Given the description of an element on the screen output the (x, y) to click on. 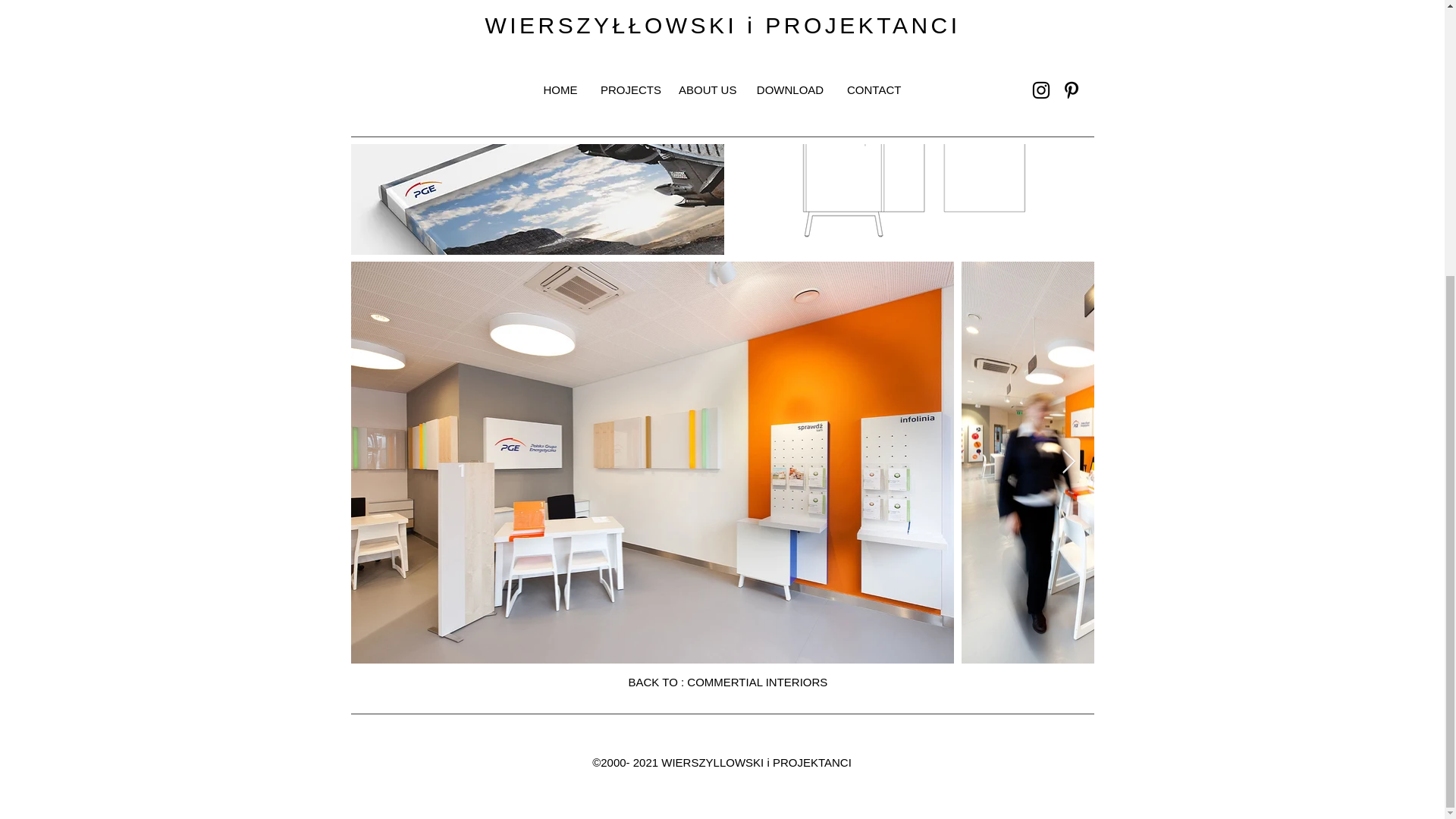
BACK TO : COMMERTIAL INTERIORS (727, 681)
